Given the description of an element on the screen output the (x, y) to click on. 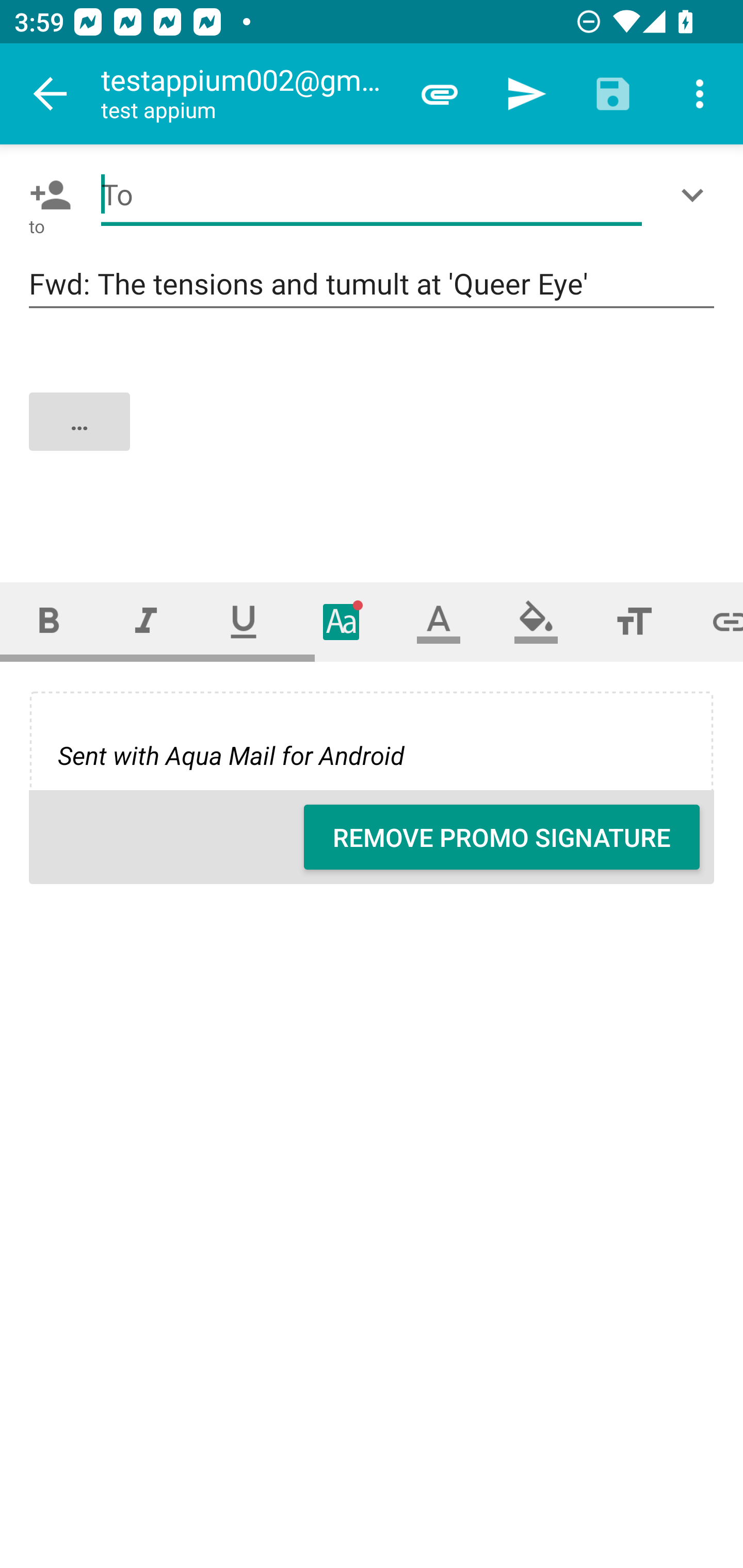
Navigate up (50, 93)
testappium002@gmail.com test appium (248, 93)
Attach (439, 93)
Send (525, 93)
Save (612, 93)
More options (699, 93)
Pick contact: To (46, 195)
Show/Add CC/BCC (696, 195)
To (371, 195)
Fwd: The tensions and tumult at 'Queer Eye' (371, 284)

…
 (372, 438)
Bold (48, 621)
Italic (145, 621)
Underline (243, 621)
Typeface (font) (341, 621)
Text color (438, 621)
Fill color (536, 621)
Font size (633, 621)
REMOVE PROMO SIGNATURE (501, 837)
